Given the description of an element on the screen output the (x, y) to click on. 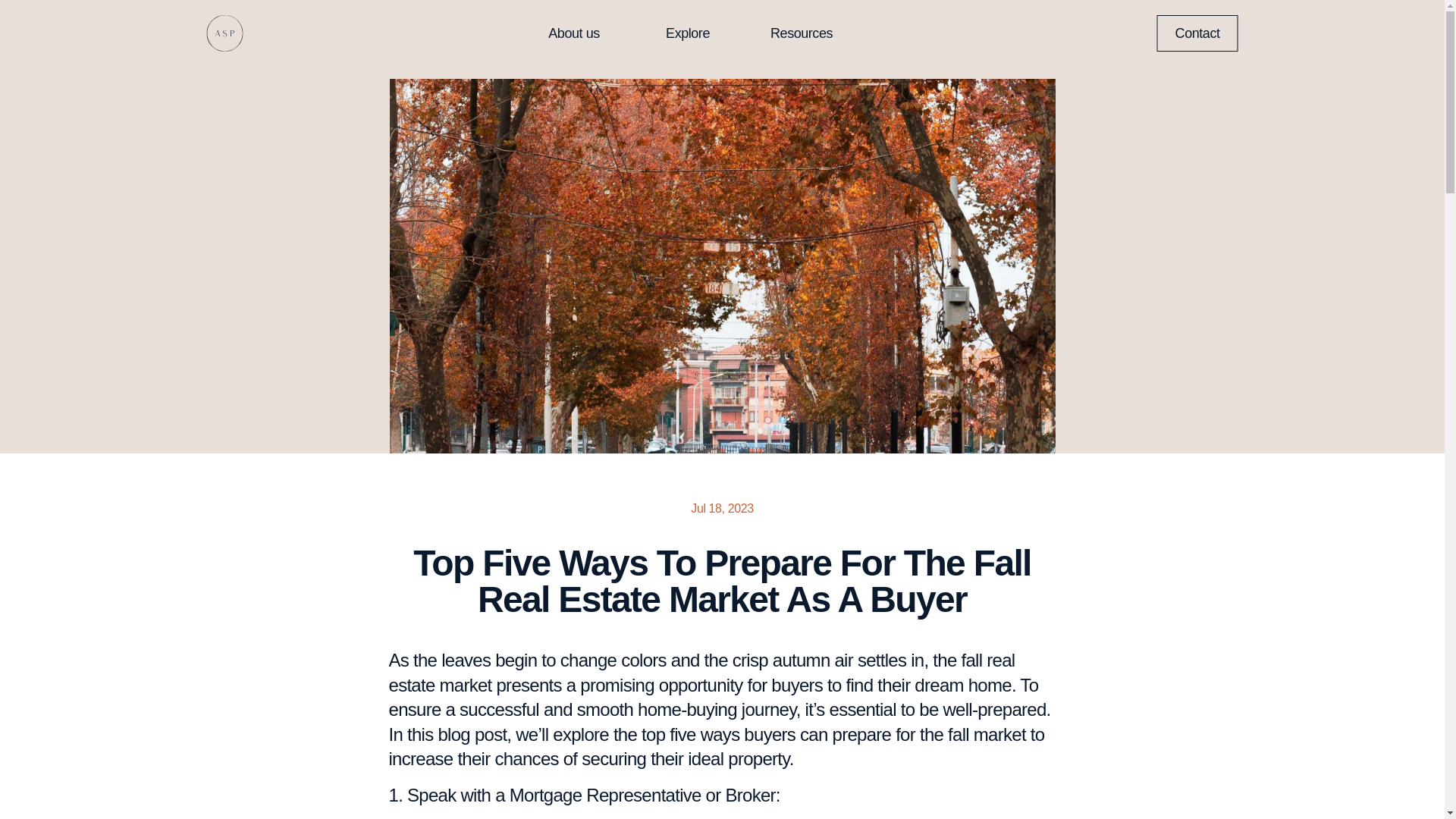
Contact (1198, 33)
